Given the description of an element on the screen output the (x, y) to click on. 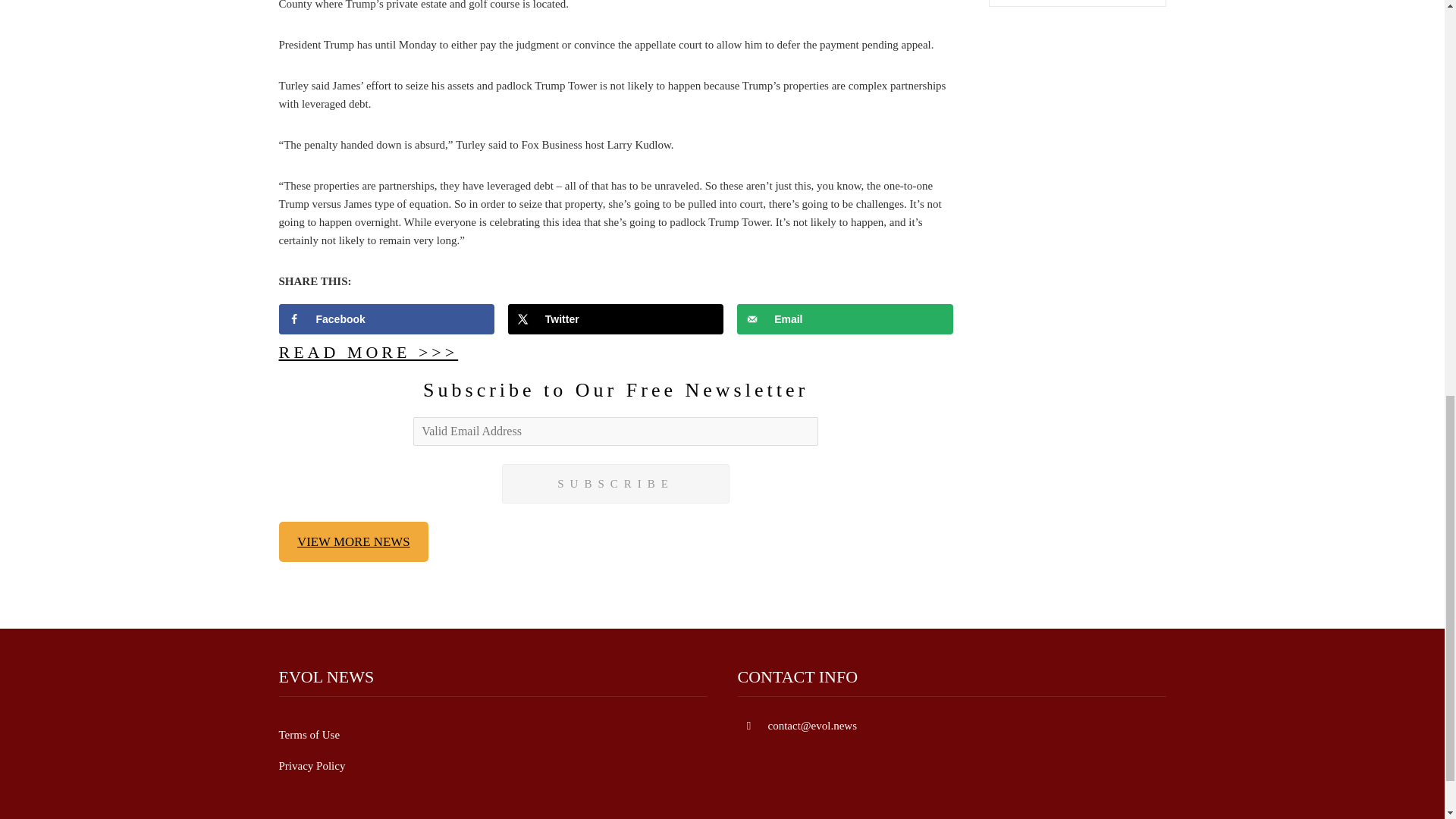
Send over email (844, 318)
Share on X (615, 318)
VIEW MORE NEWS (354, 541)
Terms of Use (309, 734)
Email (844, 318)
SUBSCRIBE (615, 483)
Facebook (387, 318)
Twitter (615, 318)
Privacy Policy (312, 766)
Share on Facebook (387, 318)
